Given the description of an element on the screen output the (x, y) to click on. 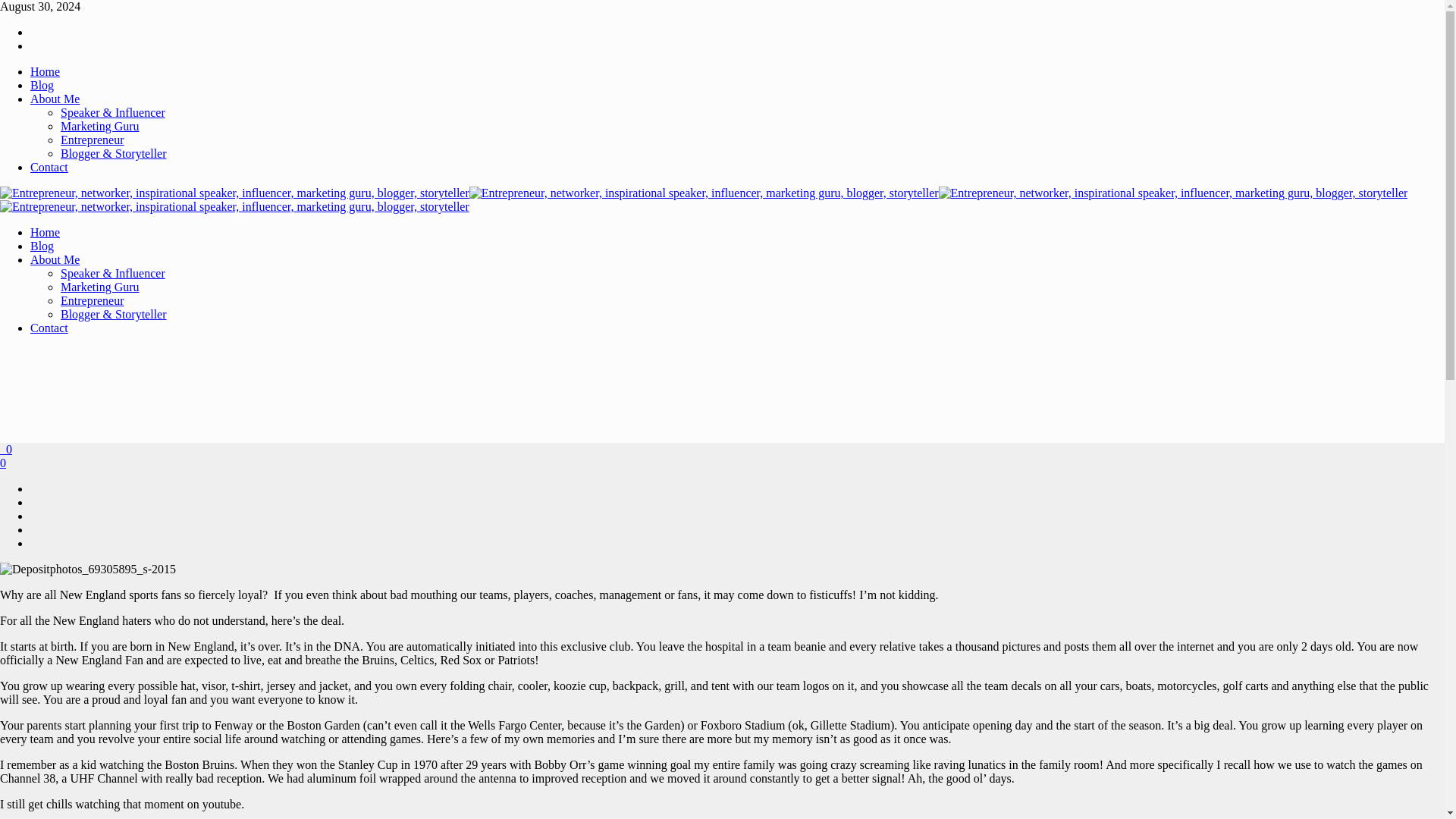
Blog (41, 84)
Entrepreneur (92, 139)
Blog (41, 245)
About Me (55, 98)
About Me (55, 98)
Marketing Guru (100, 286)
Gina Weber (703, 199)
Blog (41, 84)
Entrepreneur (92, 300)
Contact (49, 327)
